Given the description of an element on the screen output the (x, y) to click on. 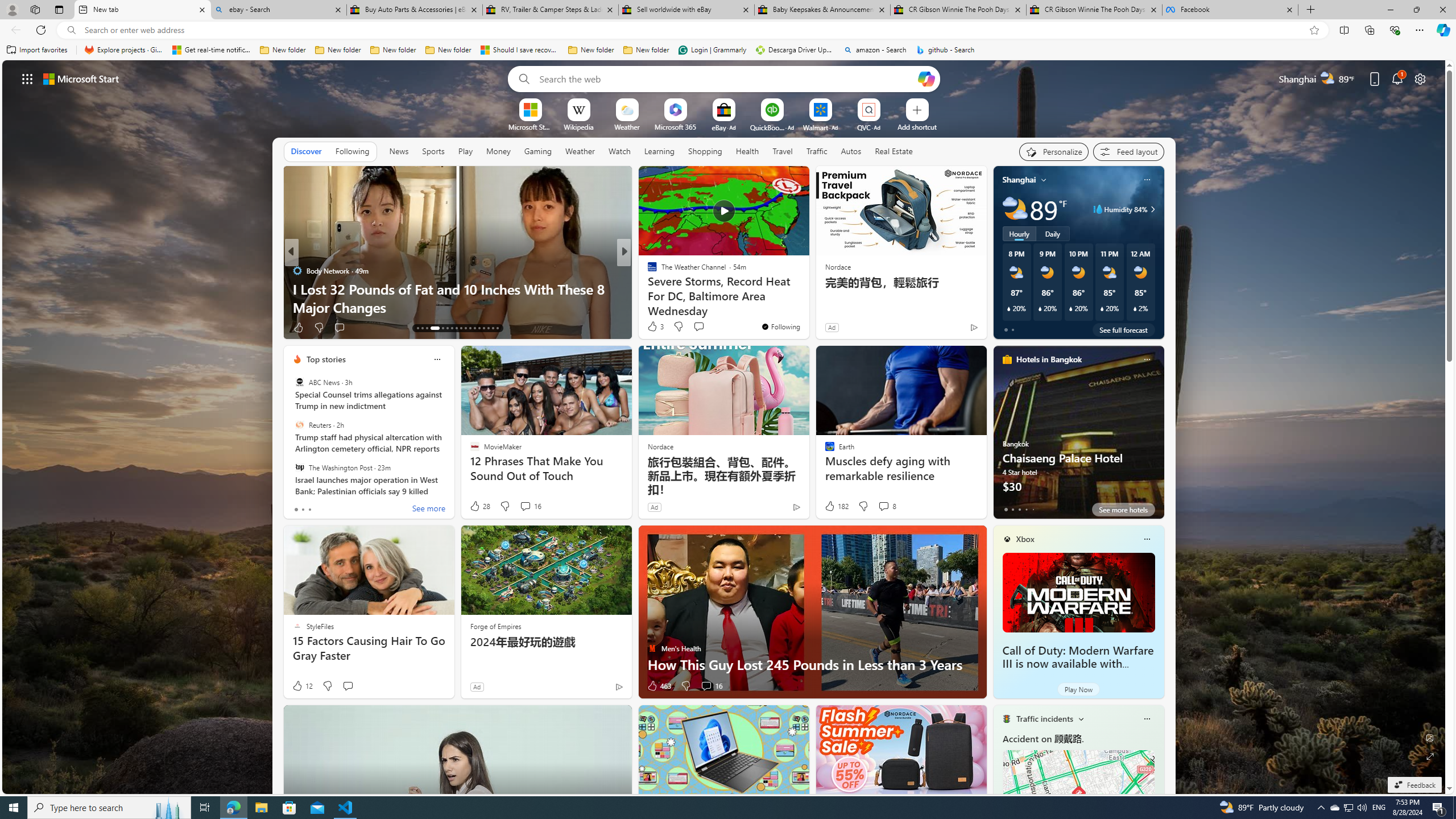
Athletes That Died Far Too Young (807, 307)
Daily (1052, 233)
amazon - Search (875, 49)
Top stories (325, 359)
MUO (647, 288)
Chaisaeng Palace Hotel (1078, 436)
Verywell Mind (647, 288)
AutomationID: tab-17 (439, 328)
Traffic incidents (1044, 718)
Money (498, 151)
463 Like (658, 685)
Money (497, 151)
tab-1 (1012, 509)
